Given the description of an element on the screen output the (x, y) to click on. 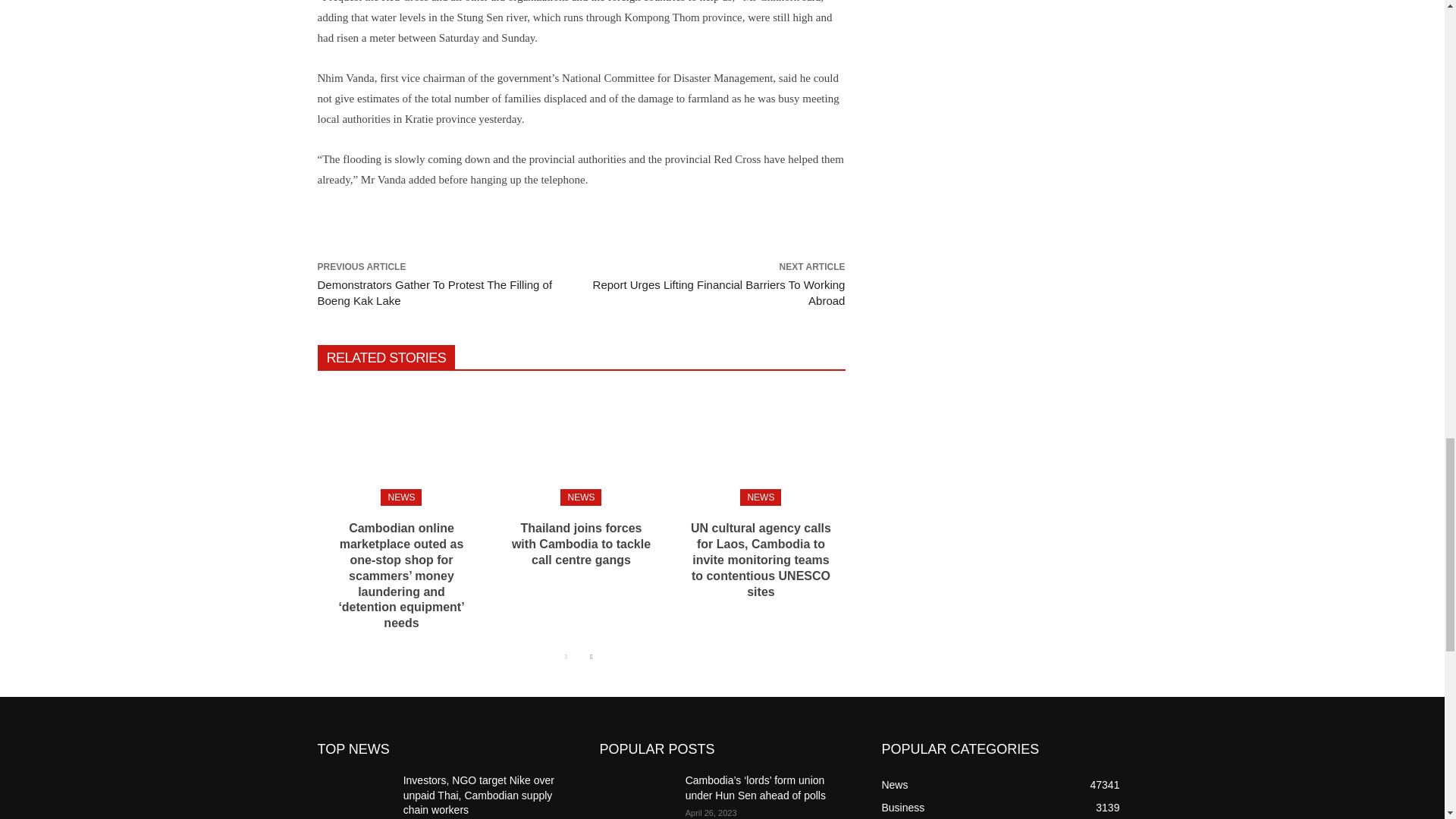
NEWS (580, 497)
Report Urges Lifting Financial Barriers To Working Abroad (718, 292)
NEWS (401, 497)
NEWS (759, 497)
